Given the description of an element on the screen output the (x, y) to click on. 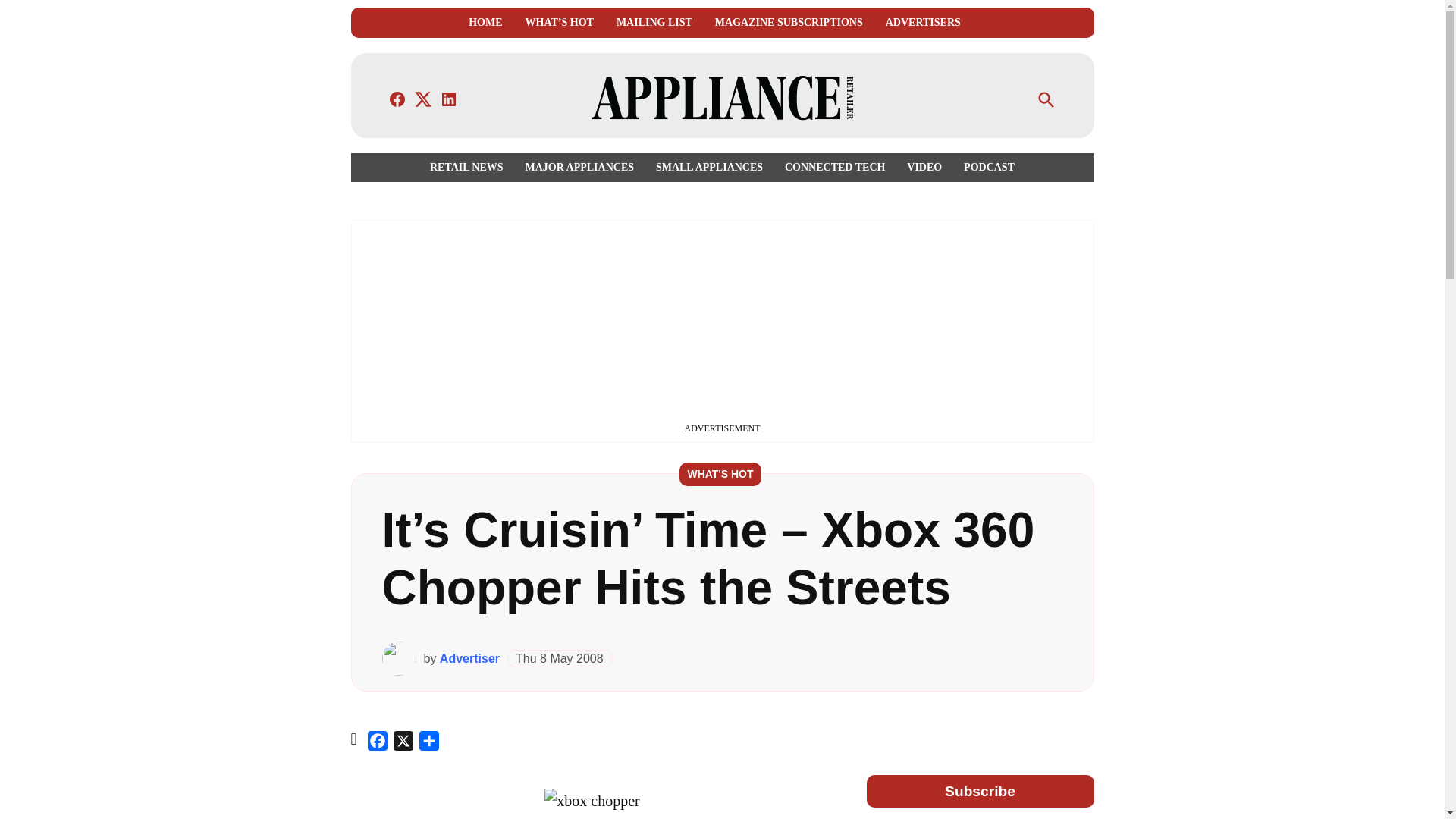
X (403, 743)
MAGAZINE SUBSCRIPTIONS (788, 22)
Advertiser (469, 658)
FACEBOOK (397, 99)
LINKEDIN (448, 99)
Facebook (377, 743)
VIDEO (924, 167)
HOME (484, 22)
